Given the description of an element on the screen output the (x, y) to click on. 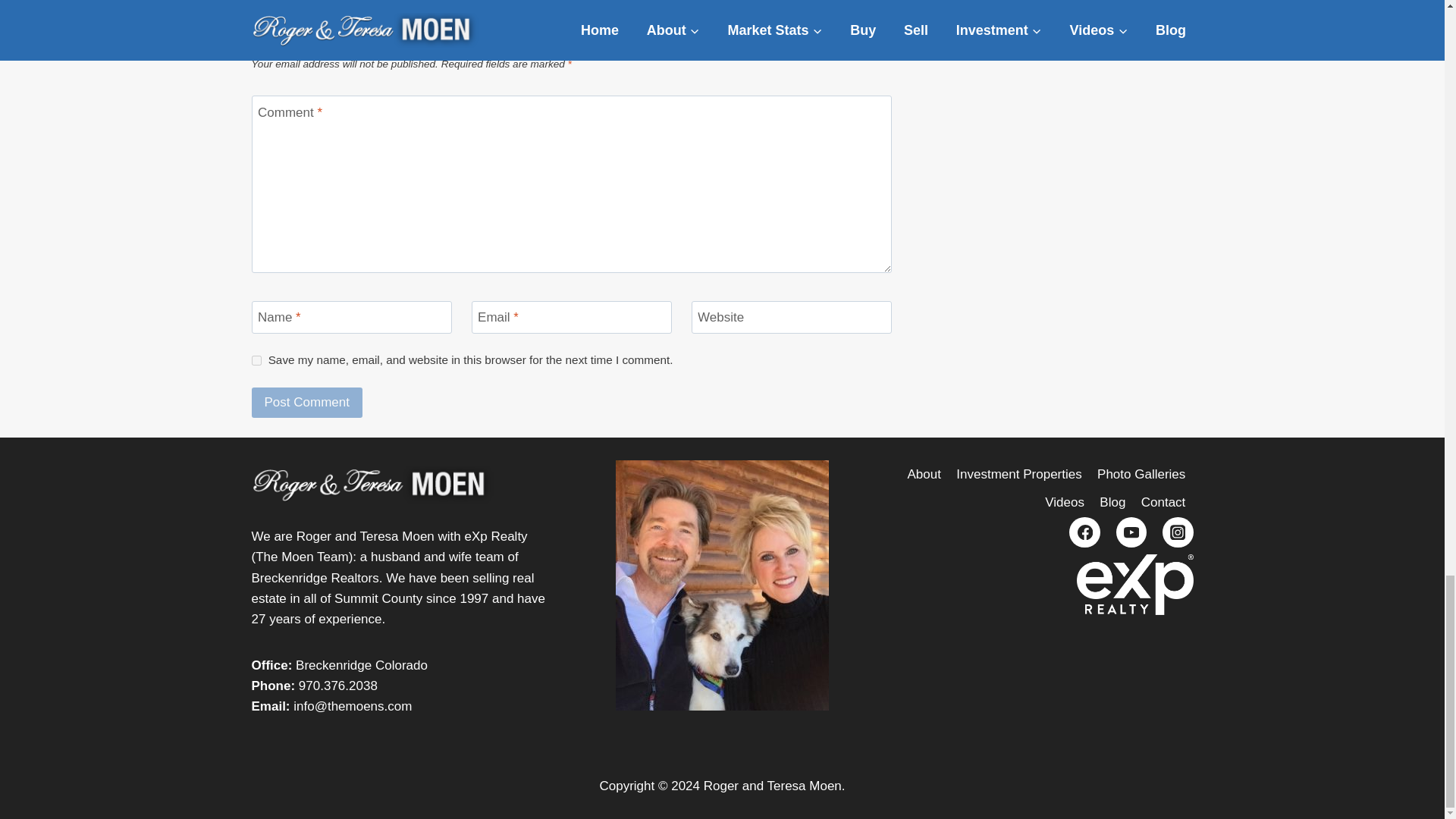
Post Comment (306, 402)
yes (256, 360)
